Given the description of an element on the screen output the (x, y) to click on. 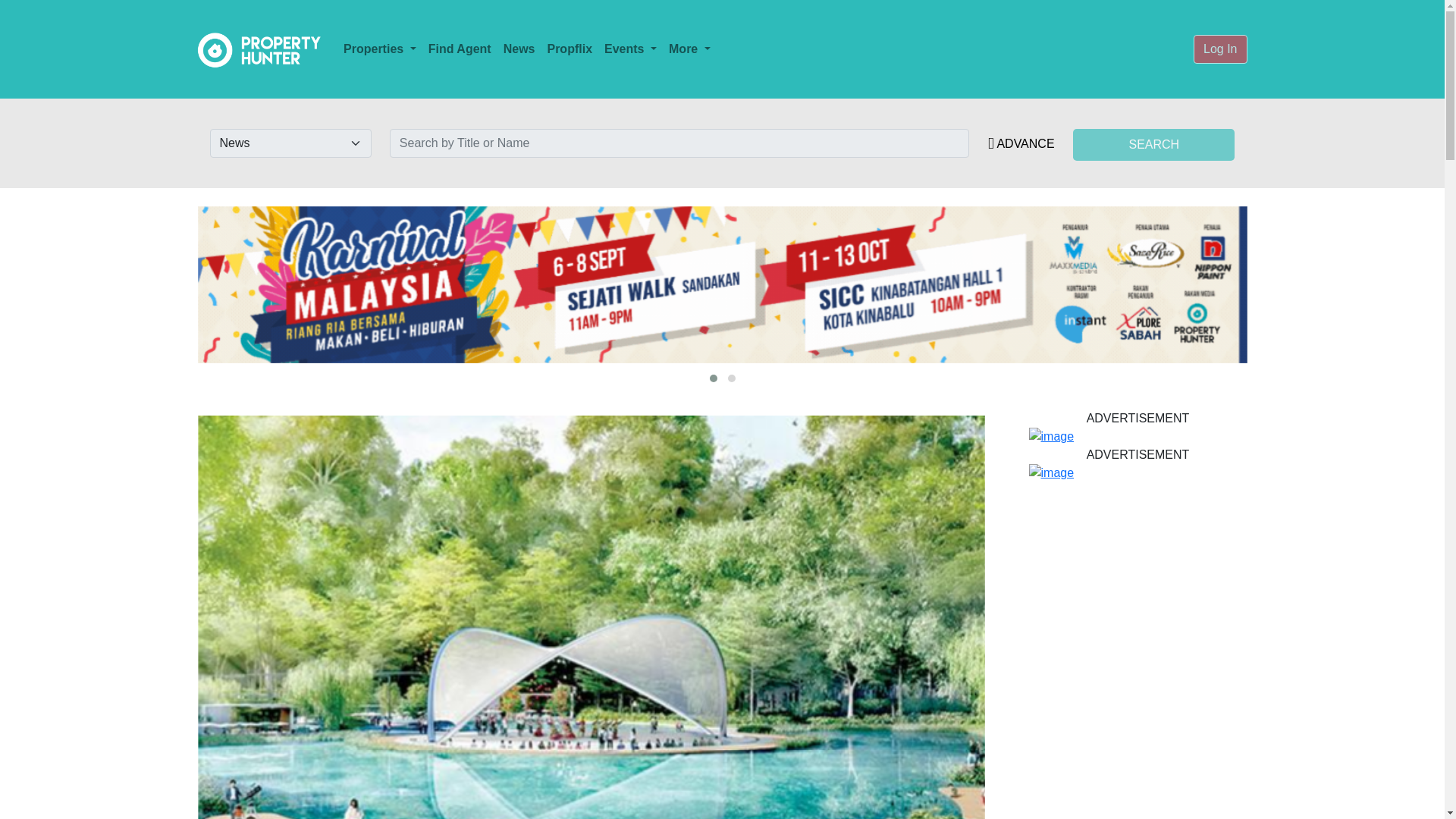
News (519, 49)
Sidebox (1136, 473)
Sidebox (1136, 436)
More (689, 49)
Find Agent (459, 49)
Properties (379, 49)
Events (630, 49)
Propflix (569, 49)
